Given the description of an element on the screen output the (x, y) to click on. 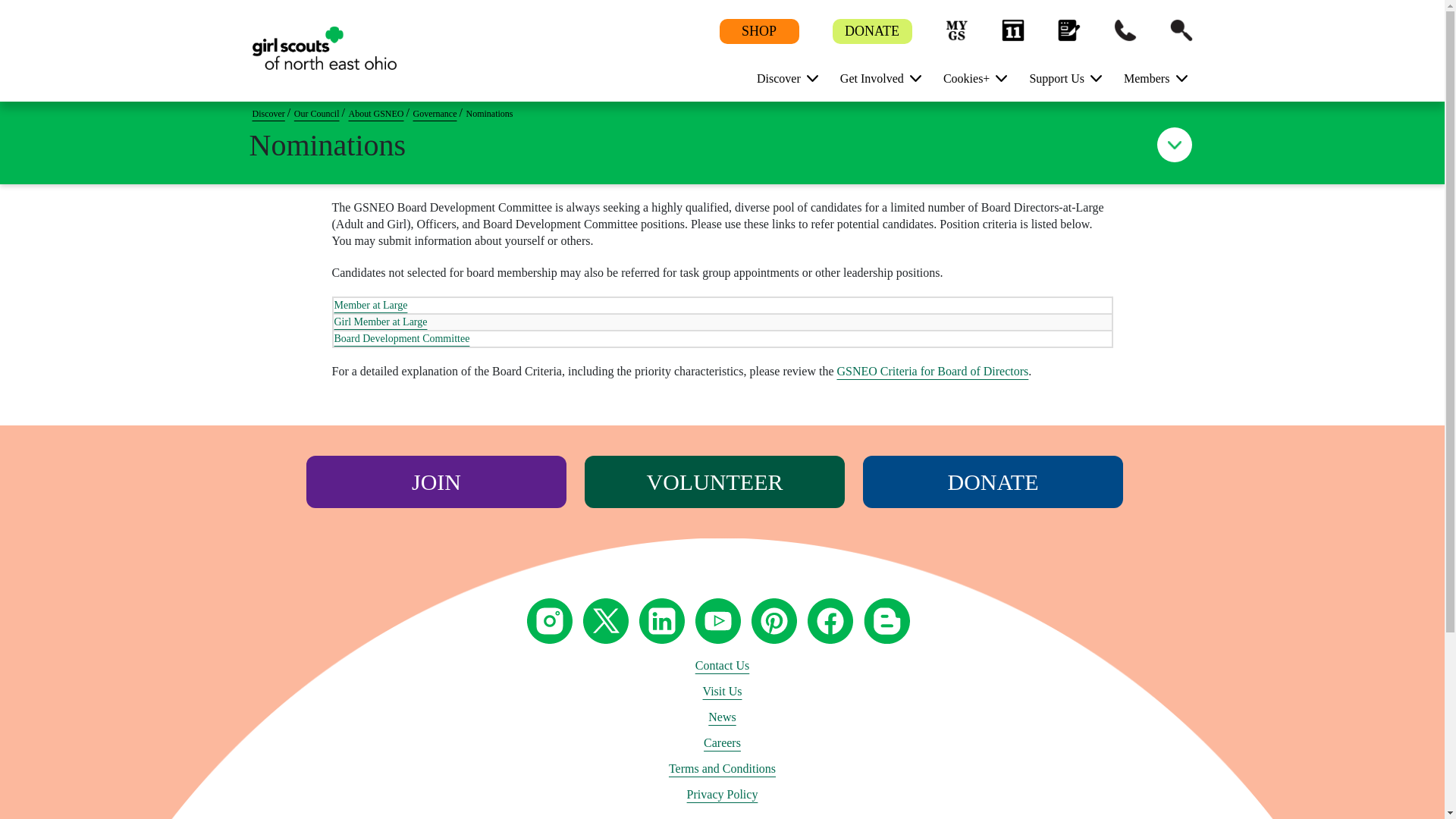
DONATE (872, 31)
Get Involved (874, 77)
Search (1180, 29)
Contact Us (1124, 29)
LiveChat chat widget (1336, 787)
Forms and Documents (1068, 29)
Discover (781, 77)
SHOP (758, 31)
MyGS (956, 29)
Event Calendar (1012, 29)
